Given the description of an element on the screen output the (x, y) to click on. 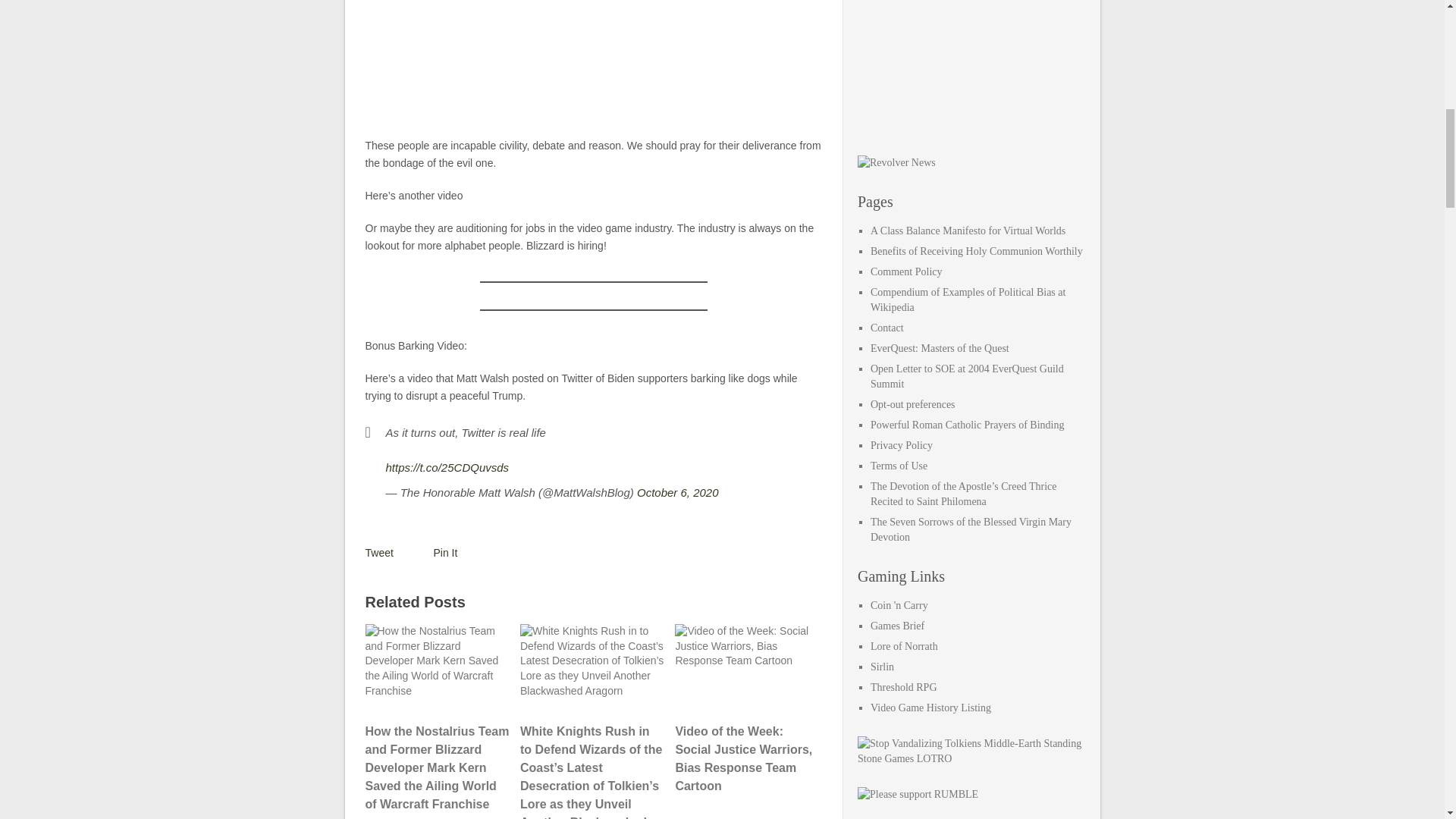
Contact (887, 327)
EverQuest: Masters of the Quest (939, 348)
Tweet (379, 552)
a fun social game available from Frogdice! (899, 604)
Open Letter to SOE at 2004 EverQuest Guild Summit (967, 376)
EverQuest lore (903, 645)
Benefits of Receiving Holy Communion Worthily (976, 251)
Pin It (445, 552)
Compendium of Examples of Political Bias at Wikipedia (967, 299)
A Class Balance Manifesto for Virtual Worlds (967, 230)
October 6, 2020 (678, 492)
Comment Policy (906, 271)
The Business of Games (897, 625)
